Given the description of an element on the screen output the (x, y) to click on. 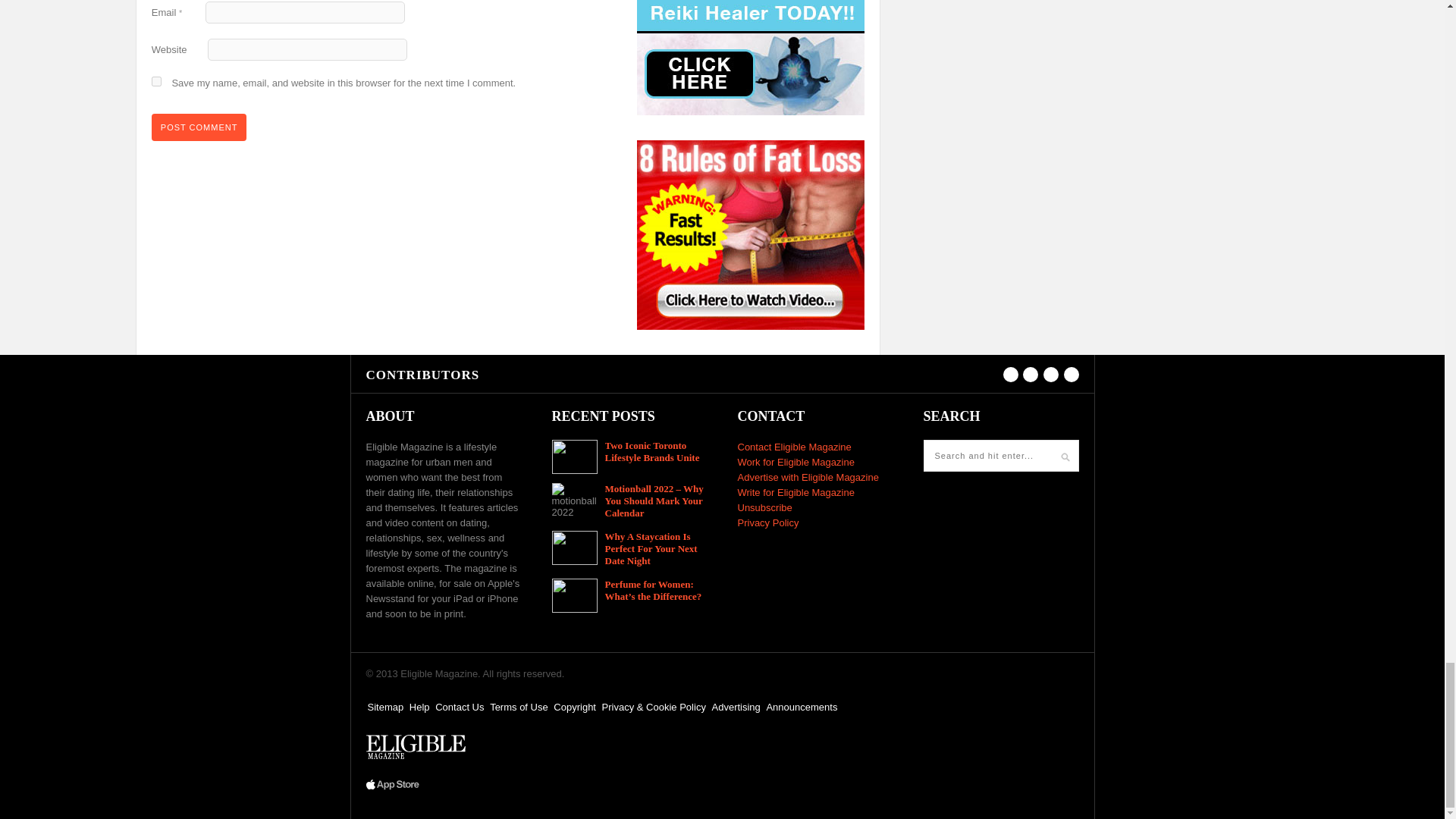
Post comment (199, 126)
yes (156, 81)
Permanent Link: Two Iconic Toronto Lifestyle Brands Unite (652, 451)
